Given the description of an element on the screen output the (x, y) to click on. 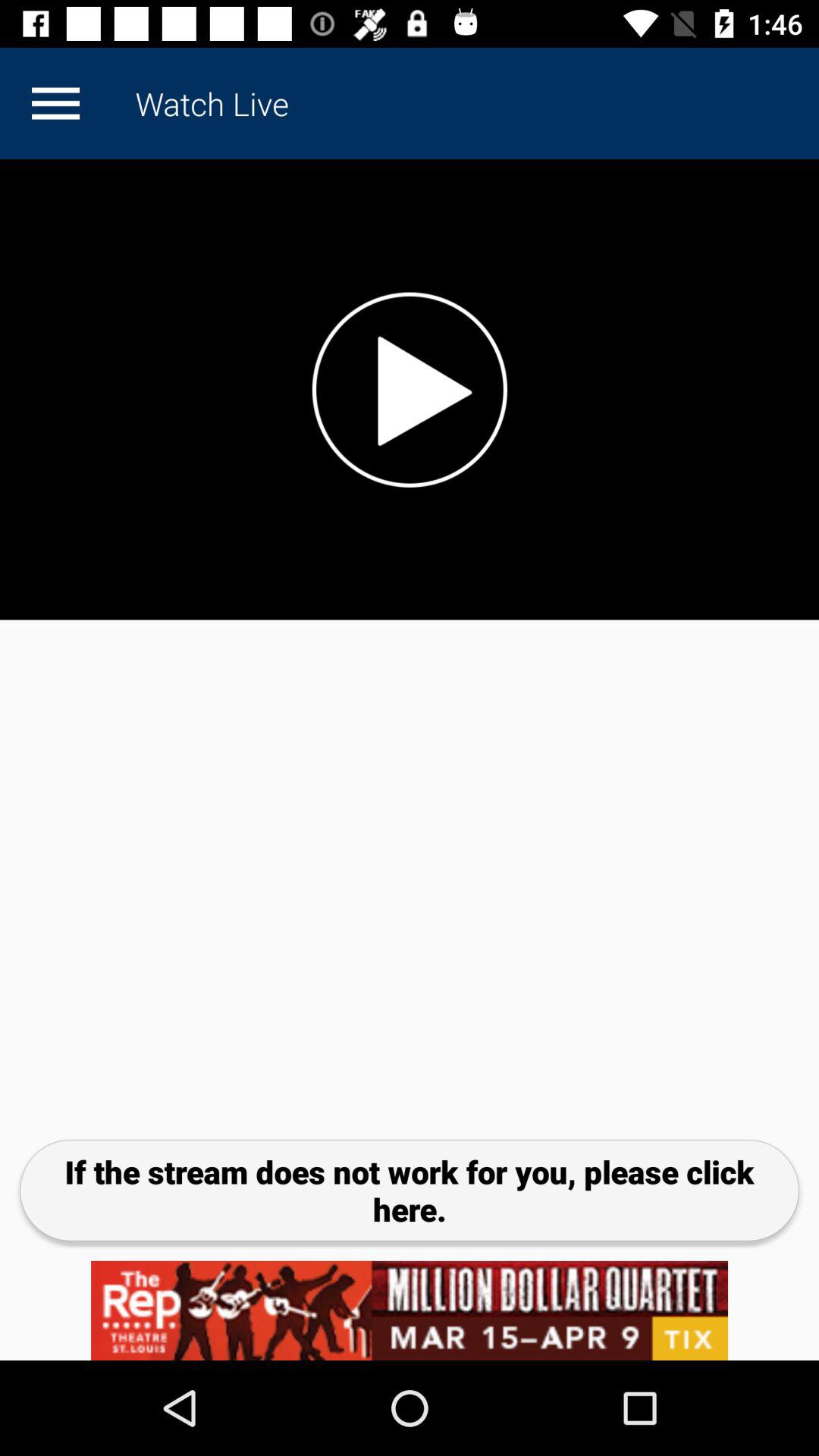
advertising page (409, 1310)
